Given the description of an element on the screen output the (x, y) to click on. 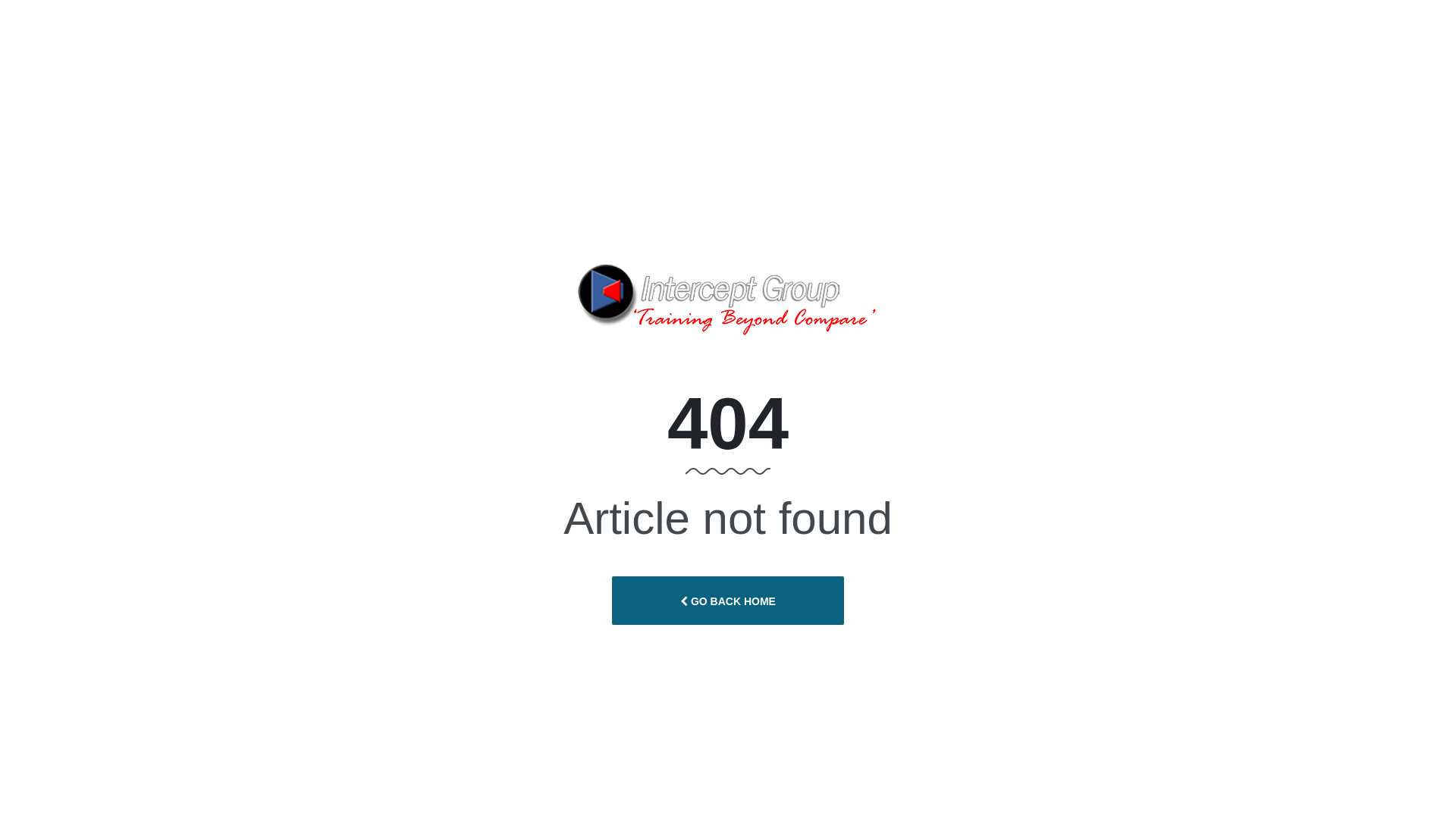
GO BACK HOME Element type: text (727, 600)
